Given the description of an element on the screen output the (x, y) to click on. 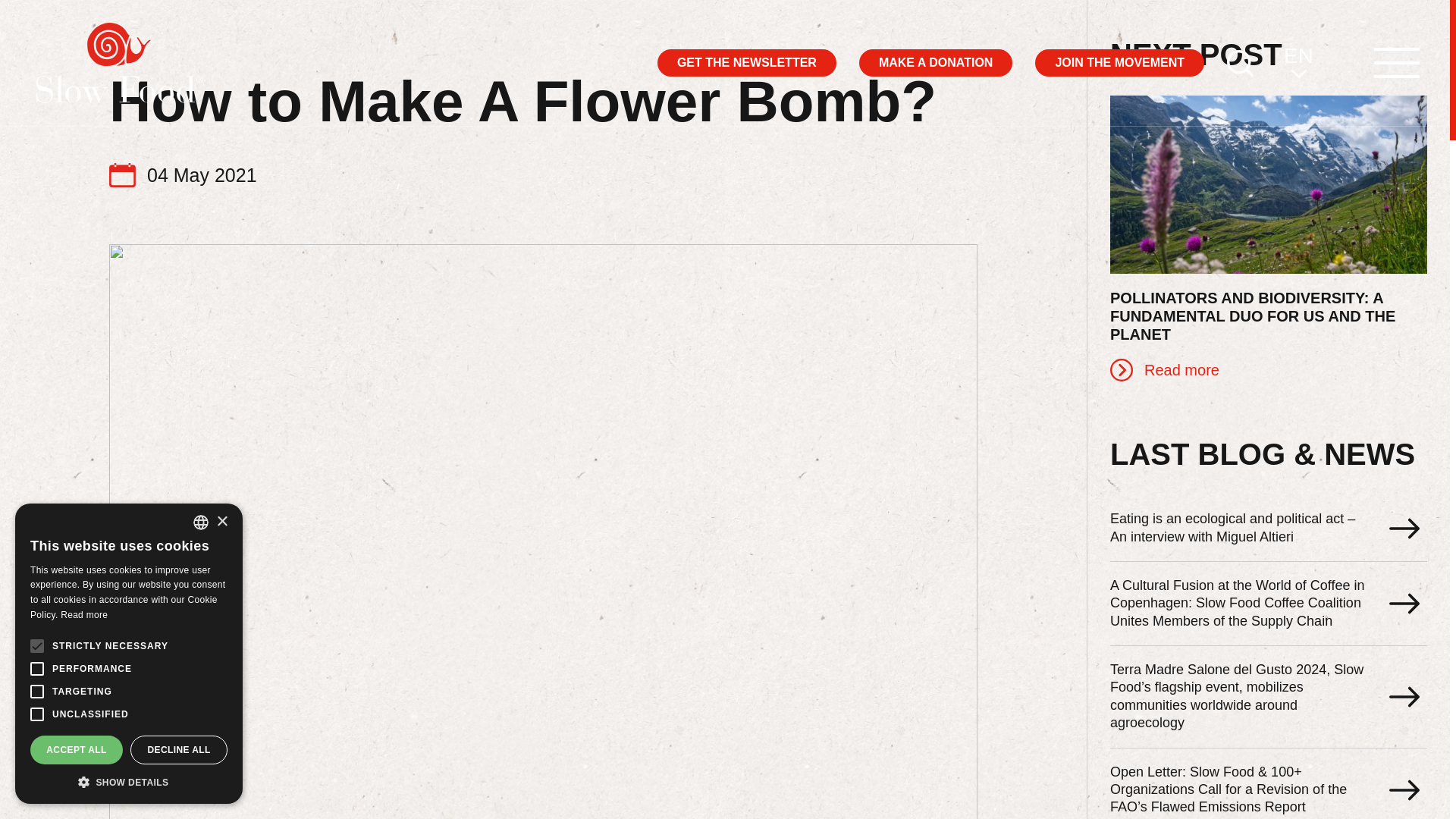
GET THE NEWSLETTER (746, 62)
MAKE A DONATION (936, 62)
JOIN THE MOVEMENT (1119, 62)
Slow Food (119, 62)
